Given the description of an element on the screen output the (x, y) to click on. 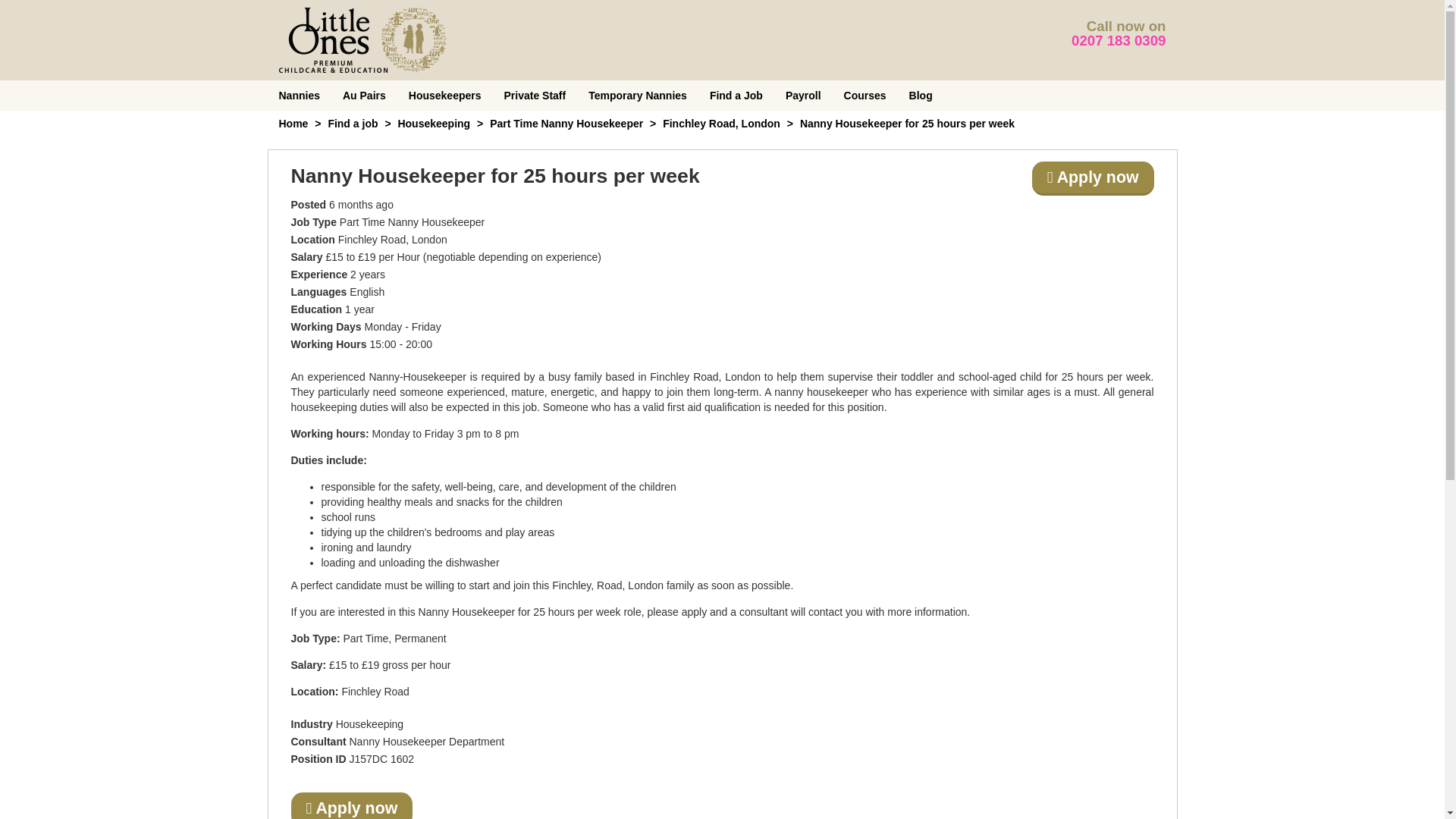
Au Pairs (364, 95)
Nannies (298, 95)
Housekeepers (445, 95)
0207 183 0309 (1118, 40)
